Given the description of an element on the screen output the (x, y) to click on. 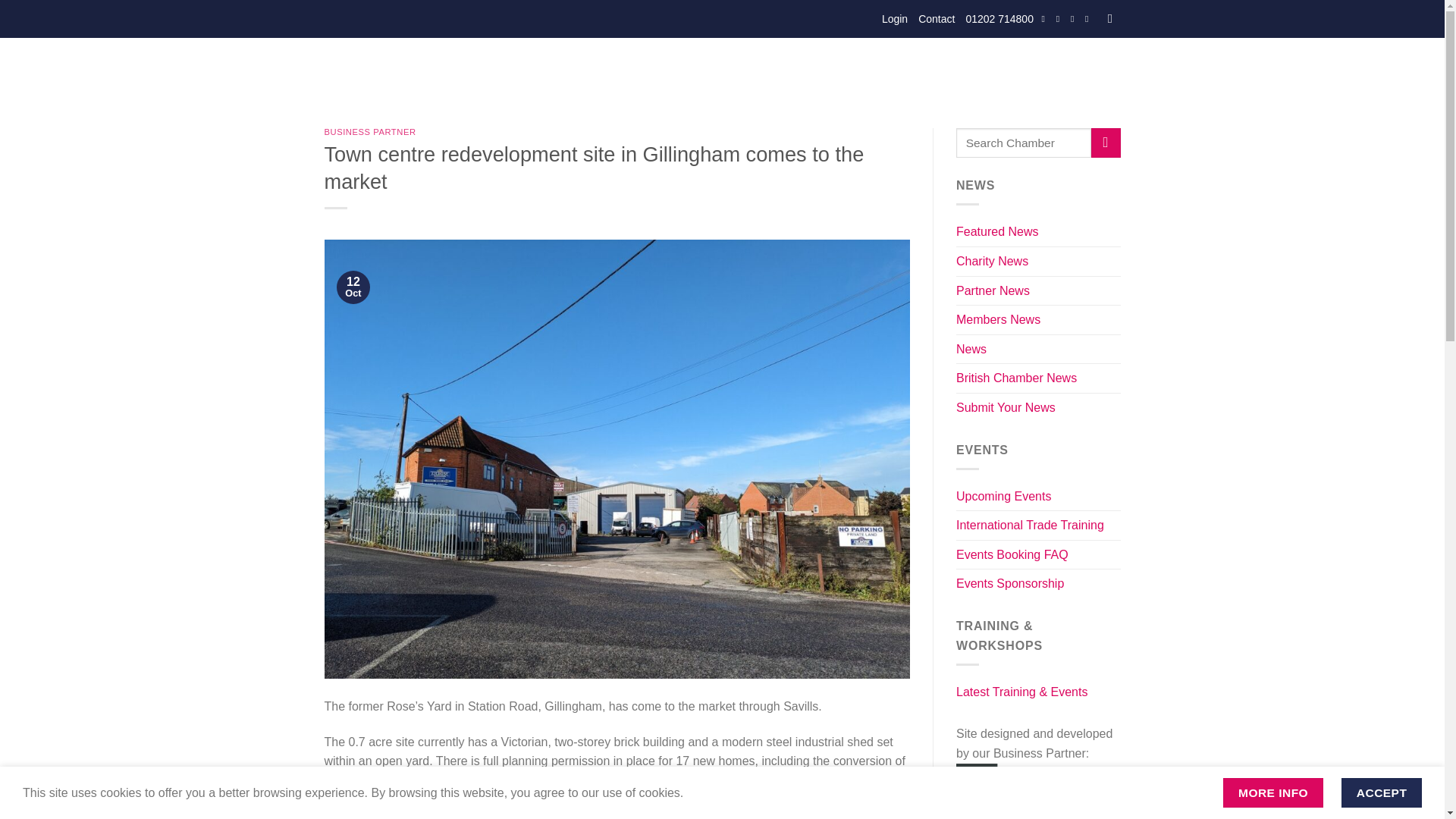
Membership (683, 71)
About (559, 71)
Digital Storm (1031, 783)
Events (613, 71)
Contact (936, 18)
01202 714800 (999, 18)
